Given the description of an element on the screen output the (x, y) to click on. 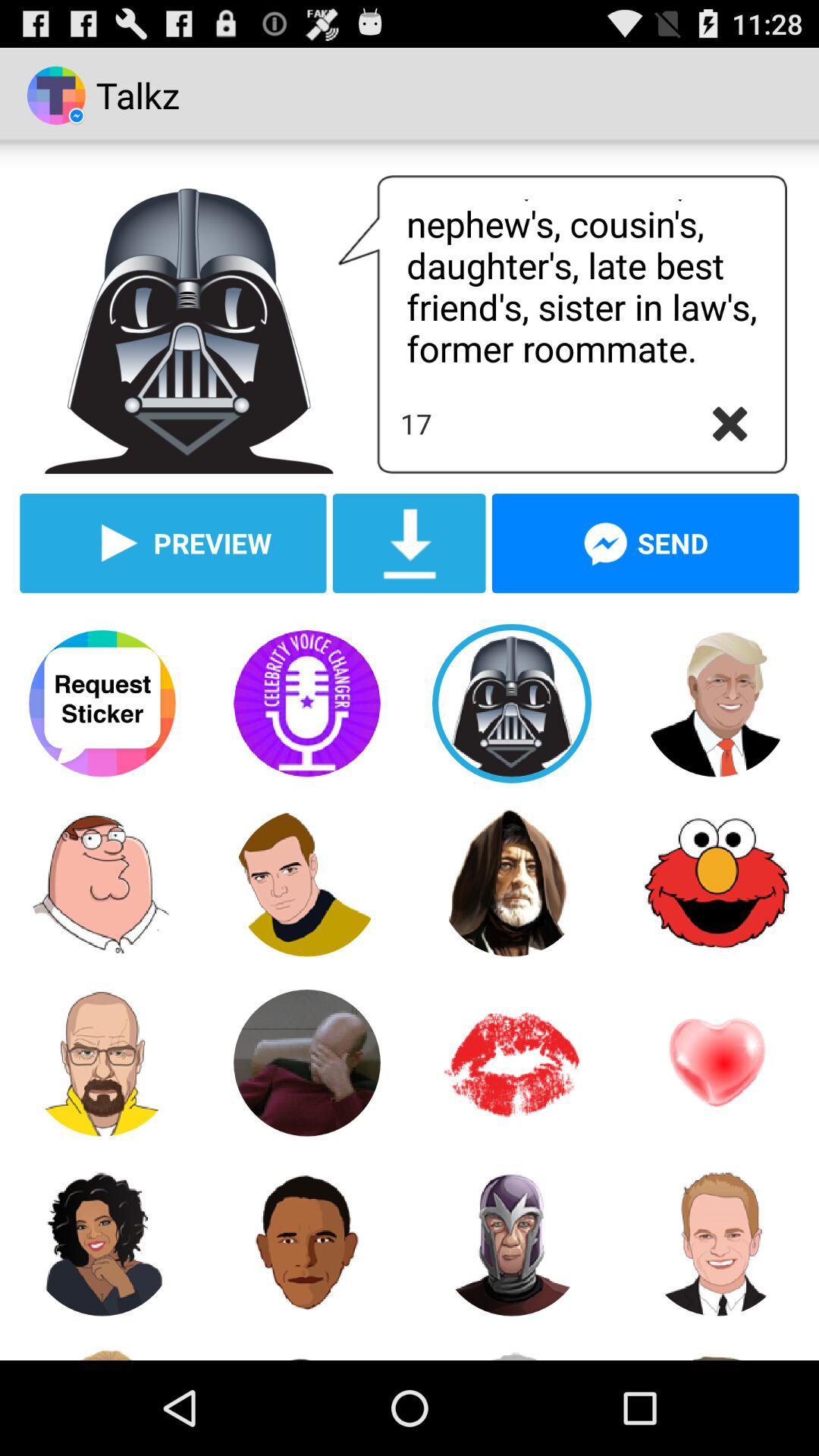
cancel button (729, 423)
